Given the description of an element on the screen output the (x, y) to click on. 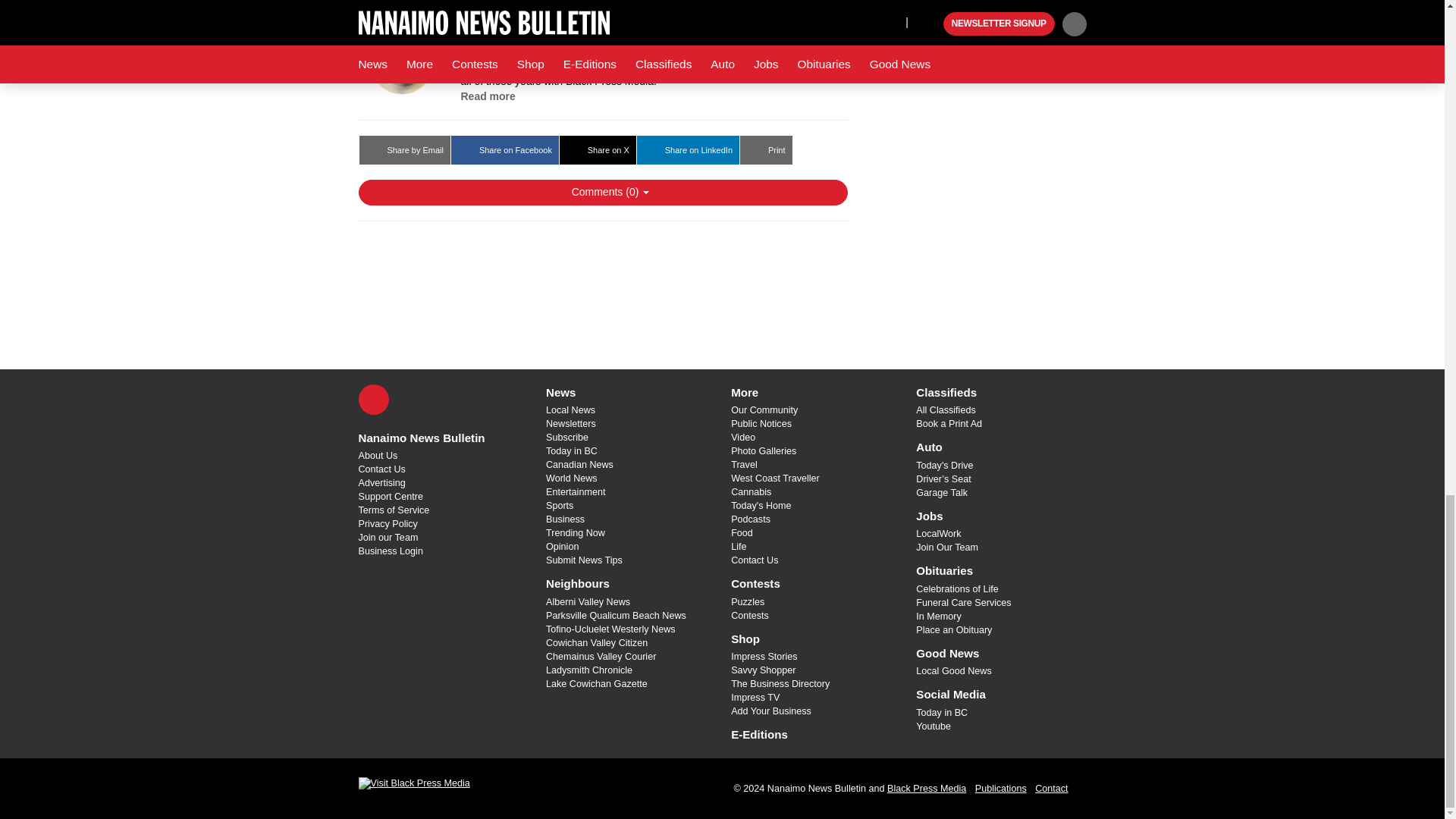
Show Comments (602, 192)
X (373, 399)
